Given the description of an element on the screen output the (x, y) to click on. 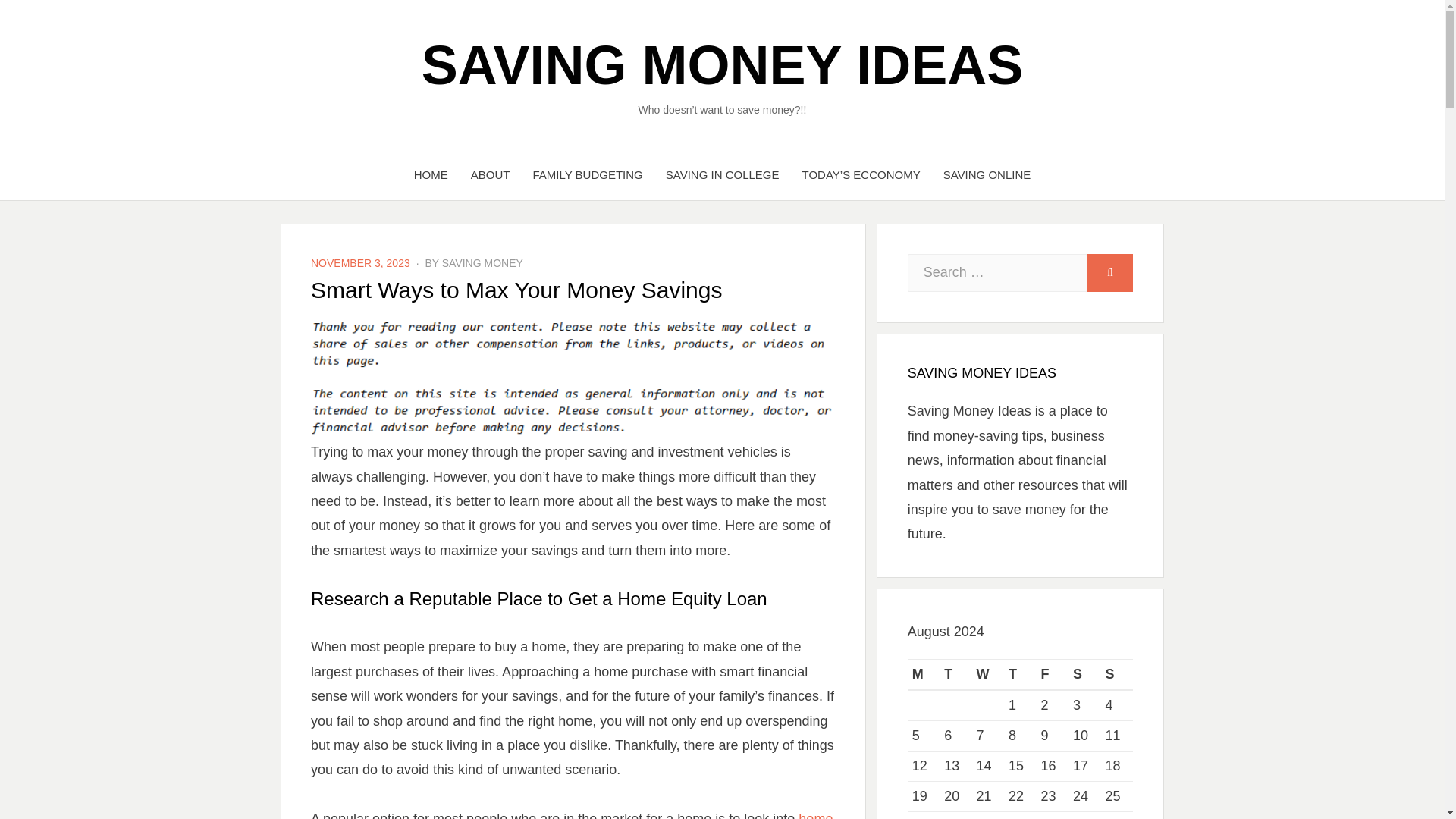
Sunday (1116, 675)
SAVING IN COLLEGE (721, 174)
SEARCH (1109, 272)
Tuesday (955, 675)
Thursday (1019, 675)
SAVING MONEY IDEAS (722, 65)
home equity loan services (571, 815)
NOVEMBER 3, 2023 (360, 263)
SAVING MONEY (482, 263)
Saturday (1084, 675)
